Given the description of an element on the screen output the (x, y) to click on. 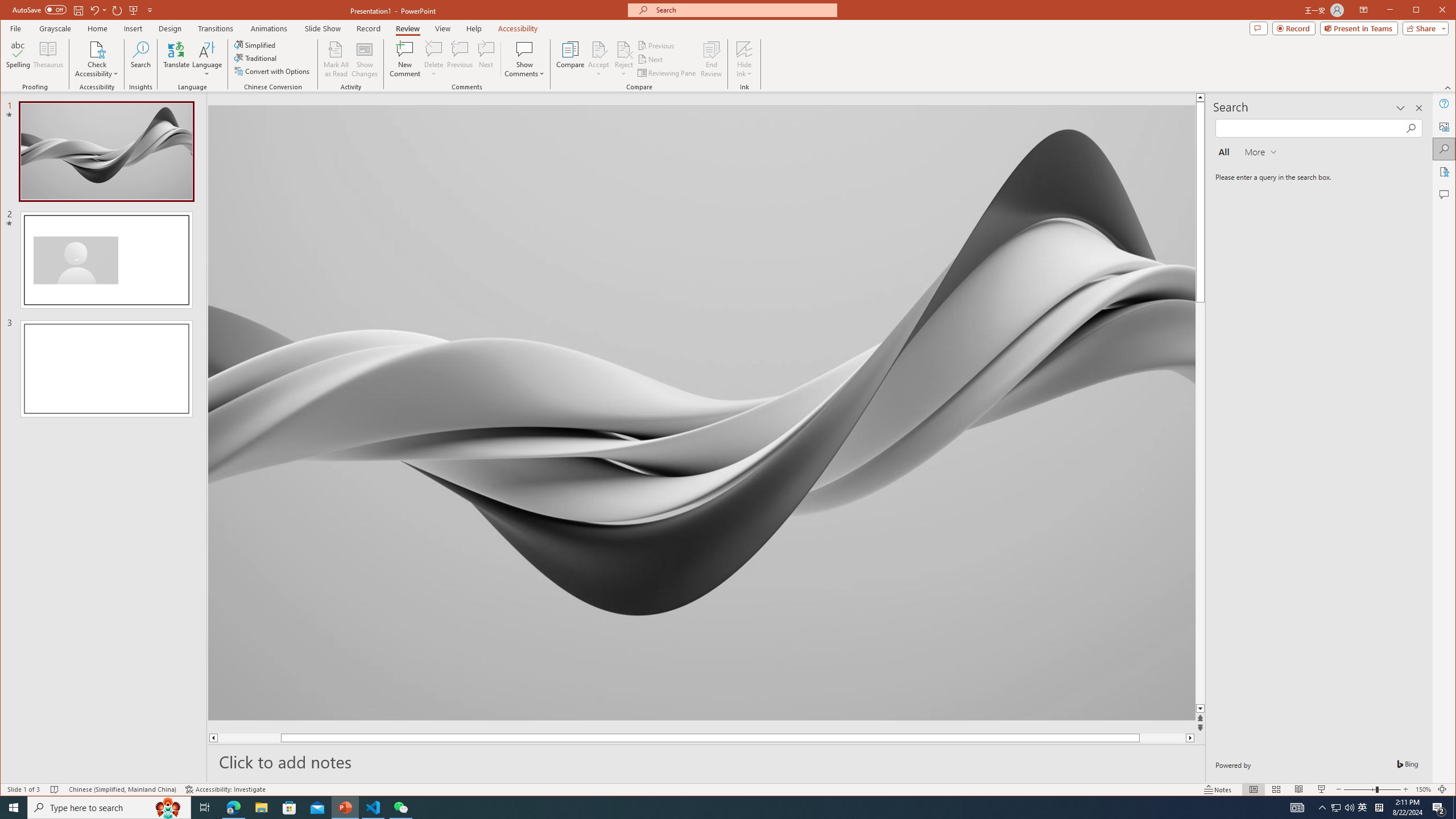
Convert with Options... (272, 70)
Compare (569, 59)
New Comment (405, 59)
